Given the description of an element on the screen output the (x, y) to click on. 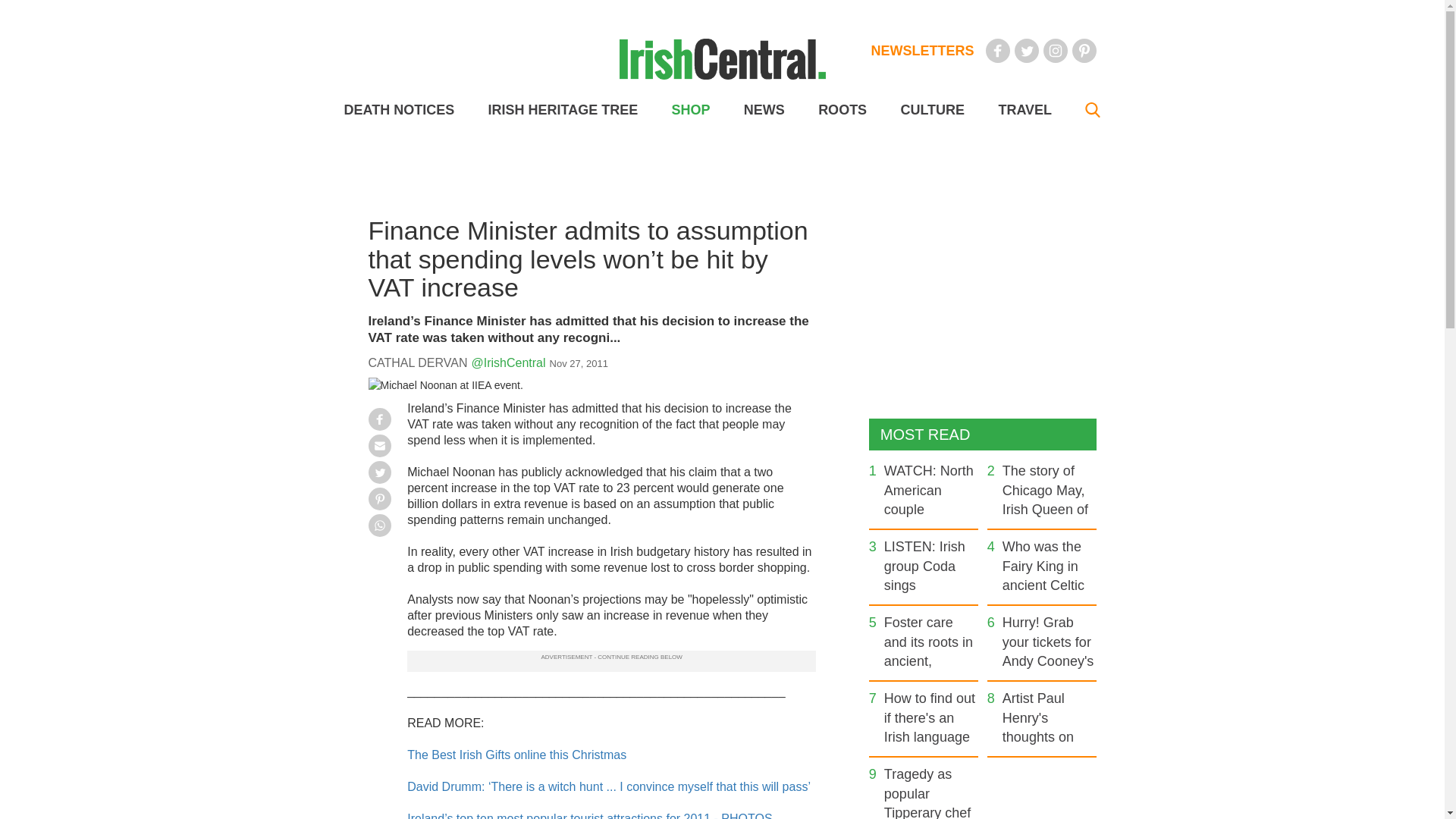
NEWSLETTERS (922, 50)
ROOTS (842, 109)
SHOP (690, 109)
CULTURE (931, 109)
NEWS (764, 109)
TRAVEL (1024, 109)
IRISH HERITAGE TREE (562, 109)
DEATH NOTICES (398, 109)
